Given the description of an element on the screen output the (x, y) to click on. 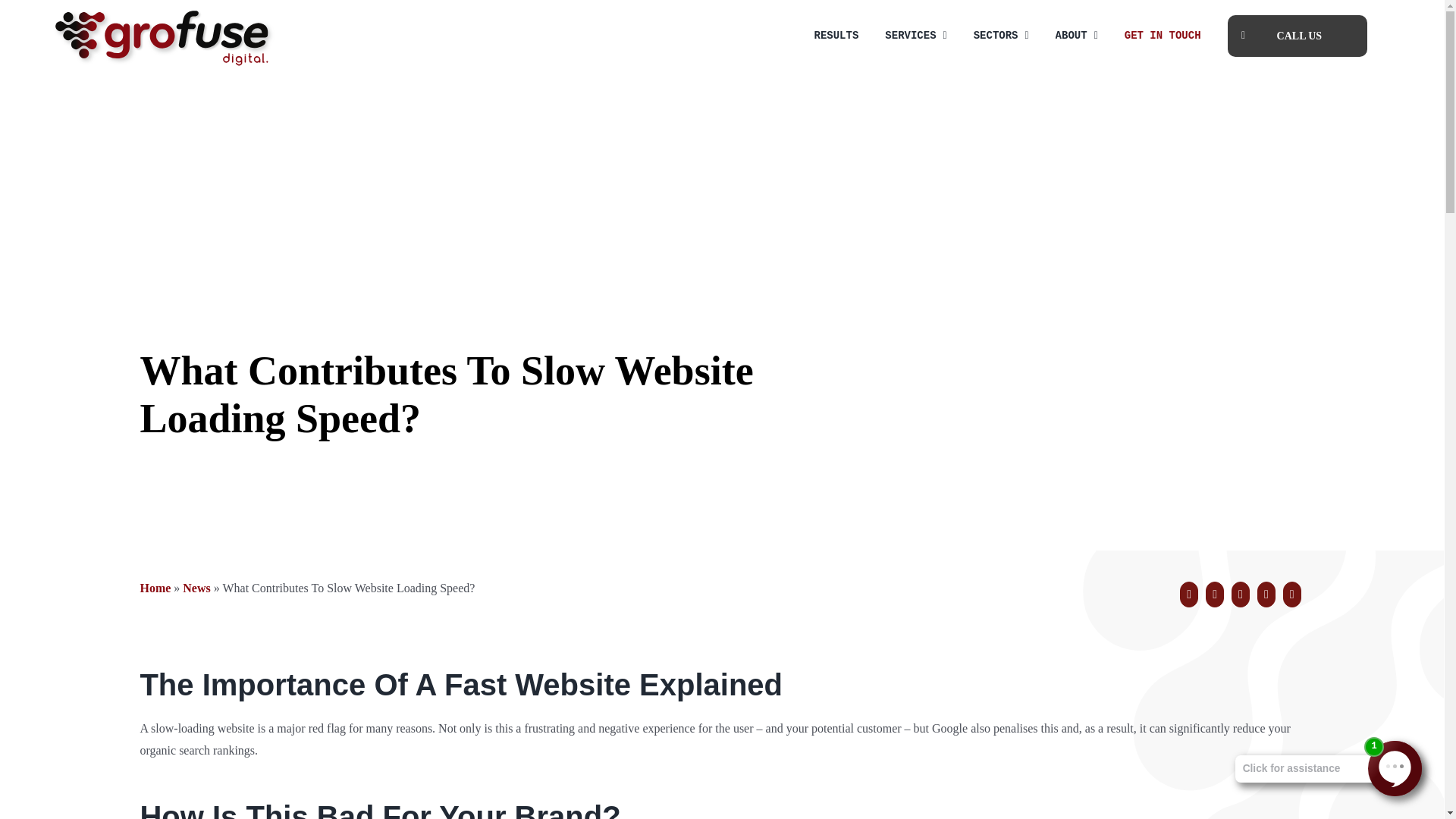
GET IN TOUCH (1162, 35)
CALL US (1297, 35)
